Given the description of an element on the screen output the (x, y) to click on. 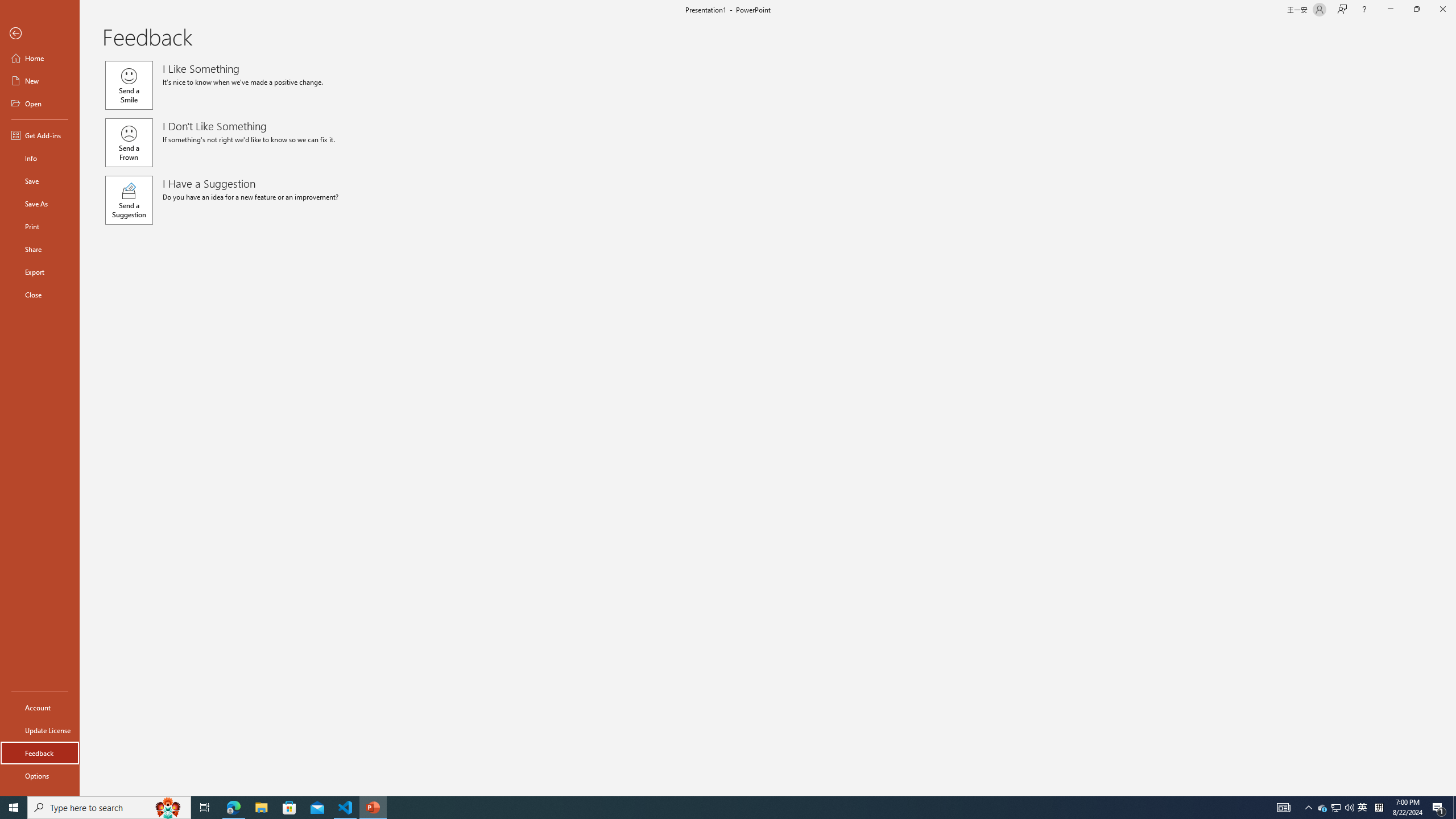
Print (40, 225)
Options (40, 775)
Update License (40, 730)
Feedback (40, 753)
New (40, 80)
Get Add-ins (40, 134)
Send a Smile (128, 84)
